Given the description of an element on the screen output the (x, y) to click on. 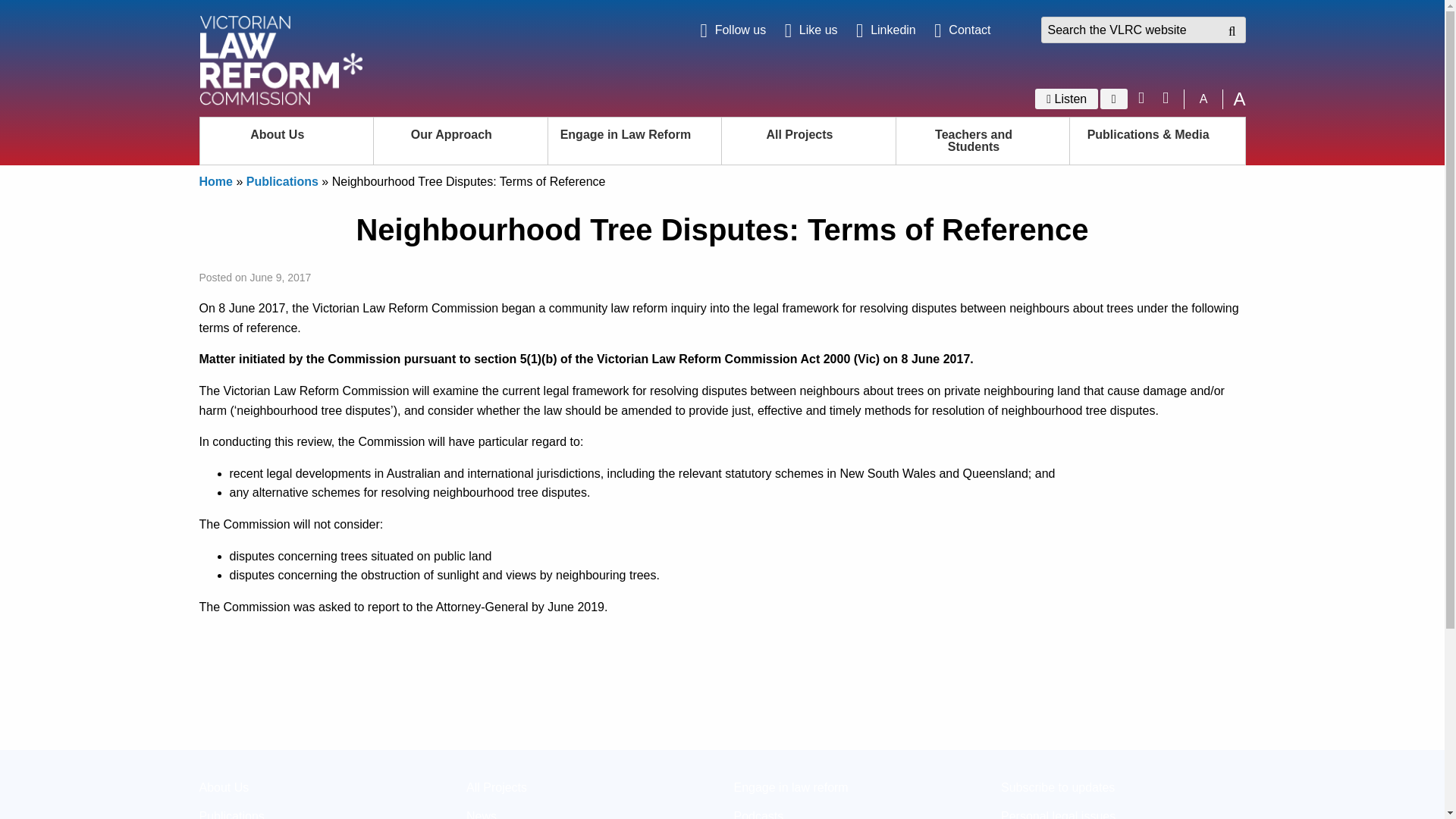
Linkedin (885, 30)
Contact (962, 30)
Like us (811, 30)
Listen (1066, 98)
Search (1225, 31)
Search (1225, 31)
Follow us (733, 30)
Search (1225, 31)
